Given the description of an element on the screen output the (x, y) to click on. 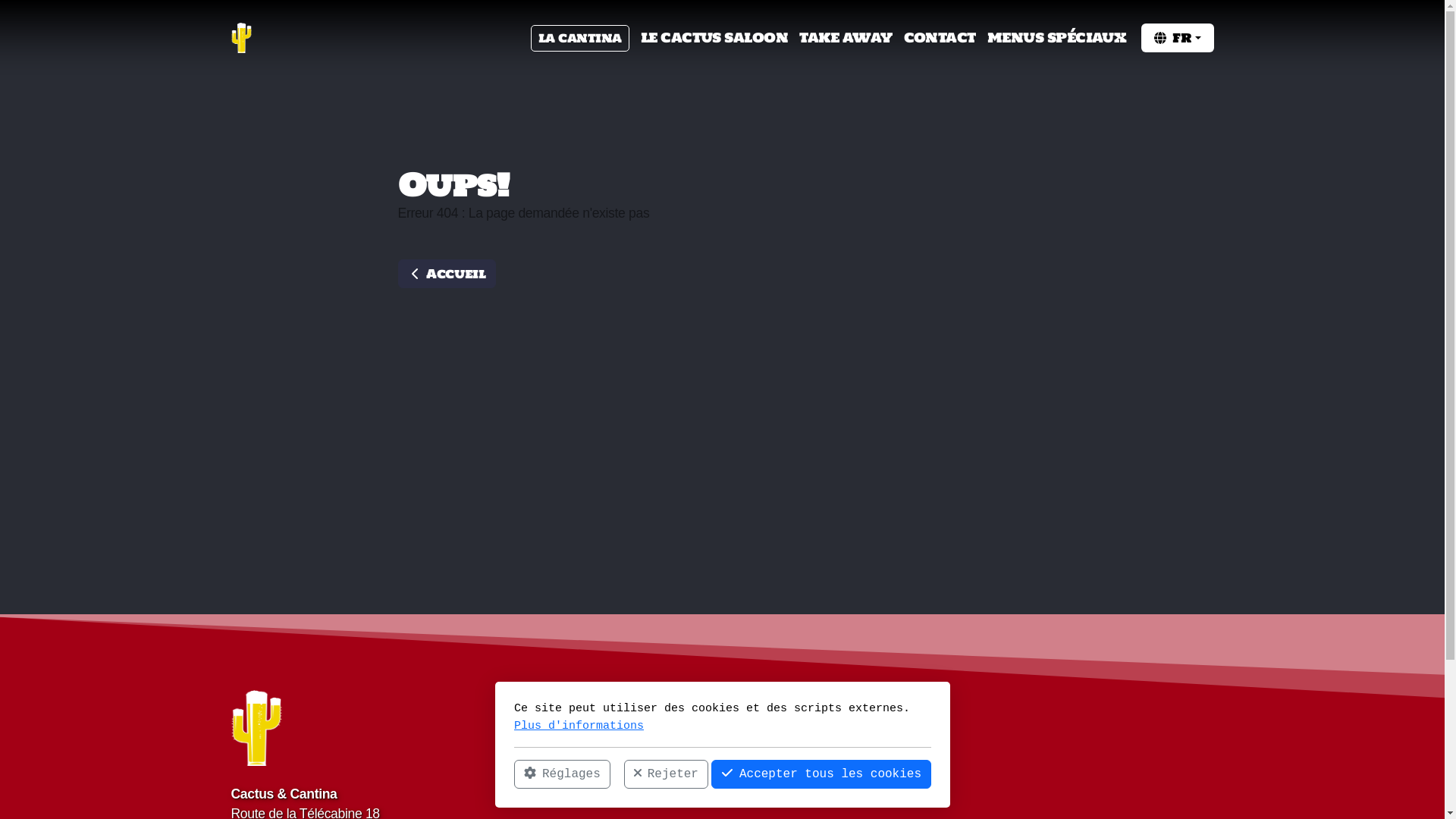
LA CANTINA Element type: text (579, 37)
FR Element type: text (1177, 37)
Rejeter Element type: text (665, 773)
Plus d'informations Element type: text (578, 724)
CONTACT Element type: text (939, 38)
Accueil Element type: text (446, 273)
LE CACTUS SALOON Element type: text (714, 38)
TAKE AWAY Element type: text (845, 38)
Accepter tous les cookies Element type: text (820, 773)
